Given the description of an element on the screen output the (x, y) to click on. 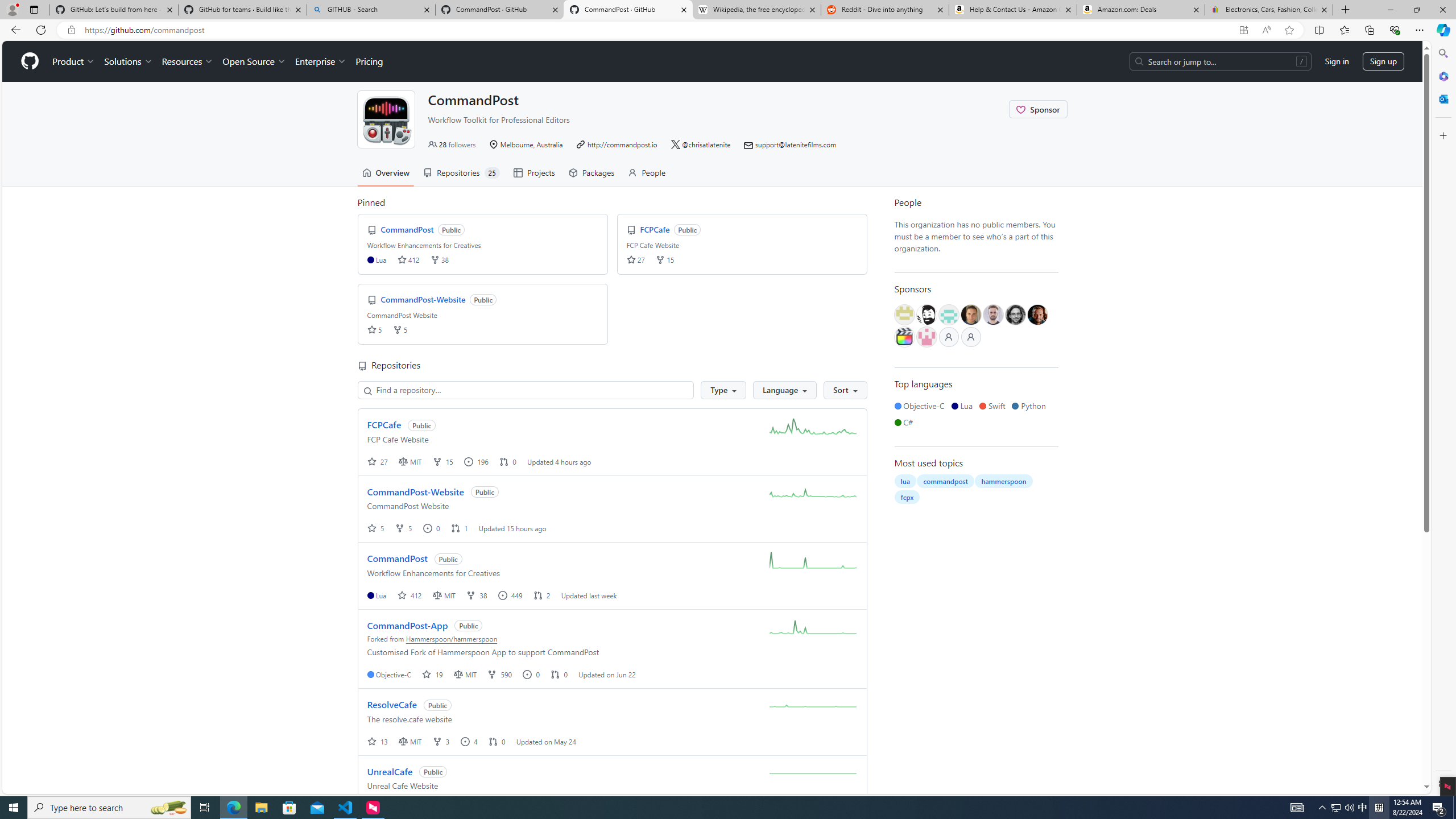
 1  (459, 528)
Reddit - Dive into anything (884, 9)
X (675, 144)
CommandPost-App (407, 625)
@florian-duffe (1014, 314)
@jbrunson83 (925, 314)
 449  (510, 595)
 19  (433, 673)
